Given the description of an element on the screen output the (x, y) to click on. 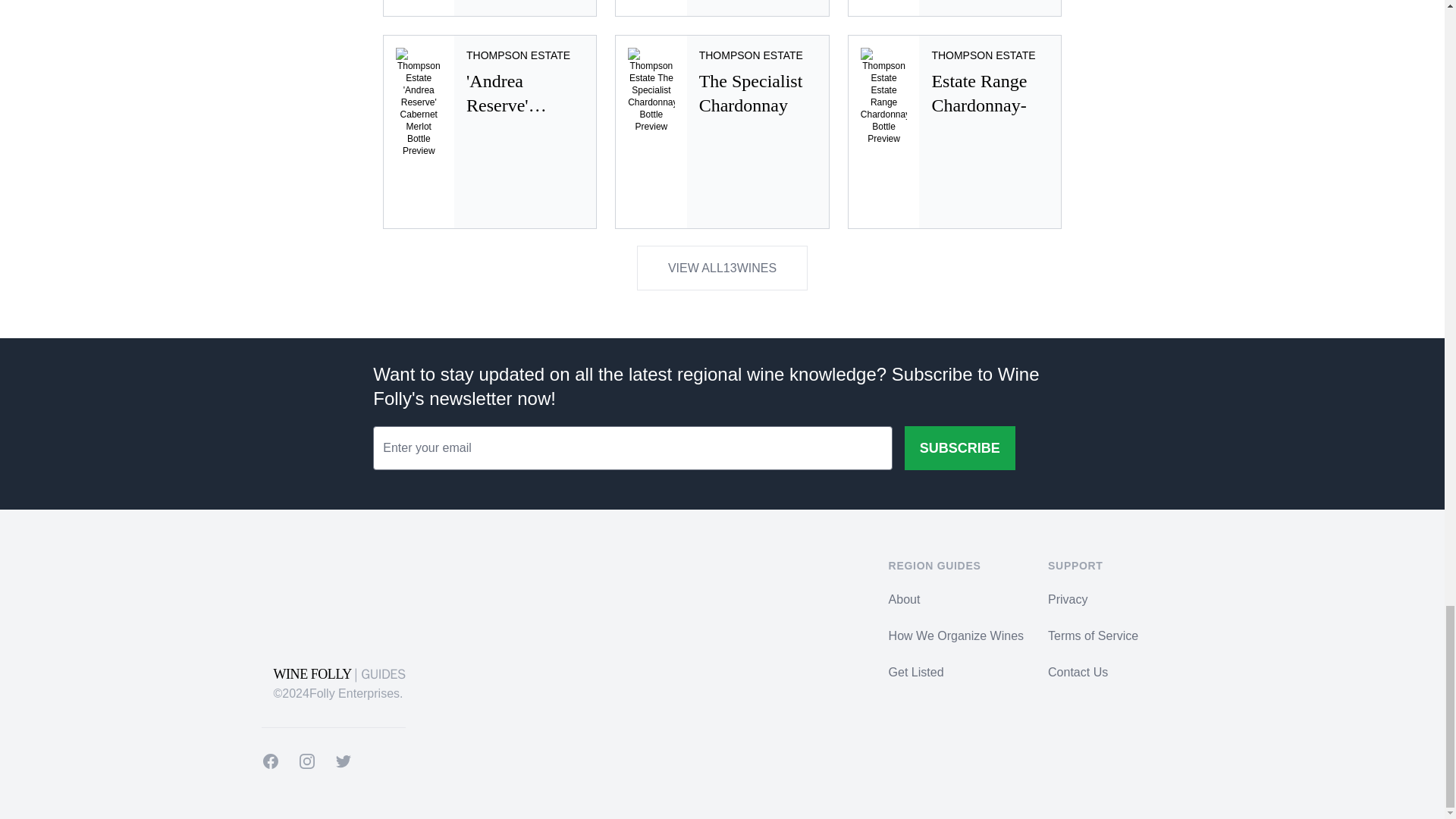
Facebook (954, 132)
VIEW ALL13WINES (269, 761)
Instagram (721, 8)
Get Listed (488, 8)
SUBSCRIBE (722, 267)
About (954, 8)
